Given the description of an element on the screen output the (x, y) to click on. 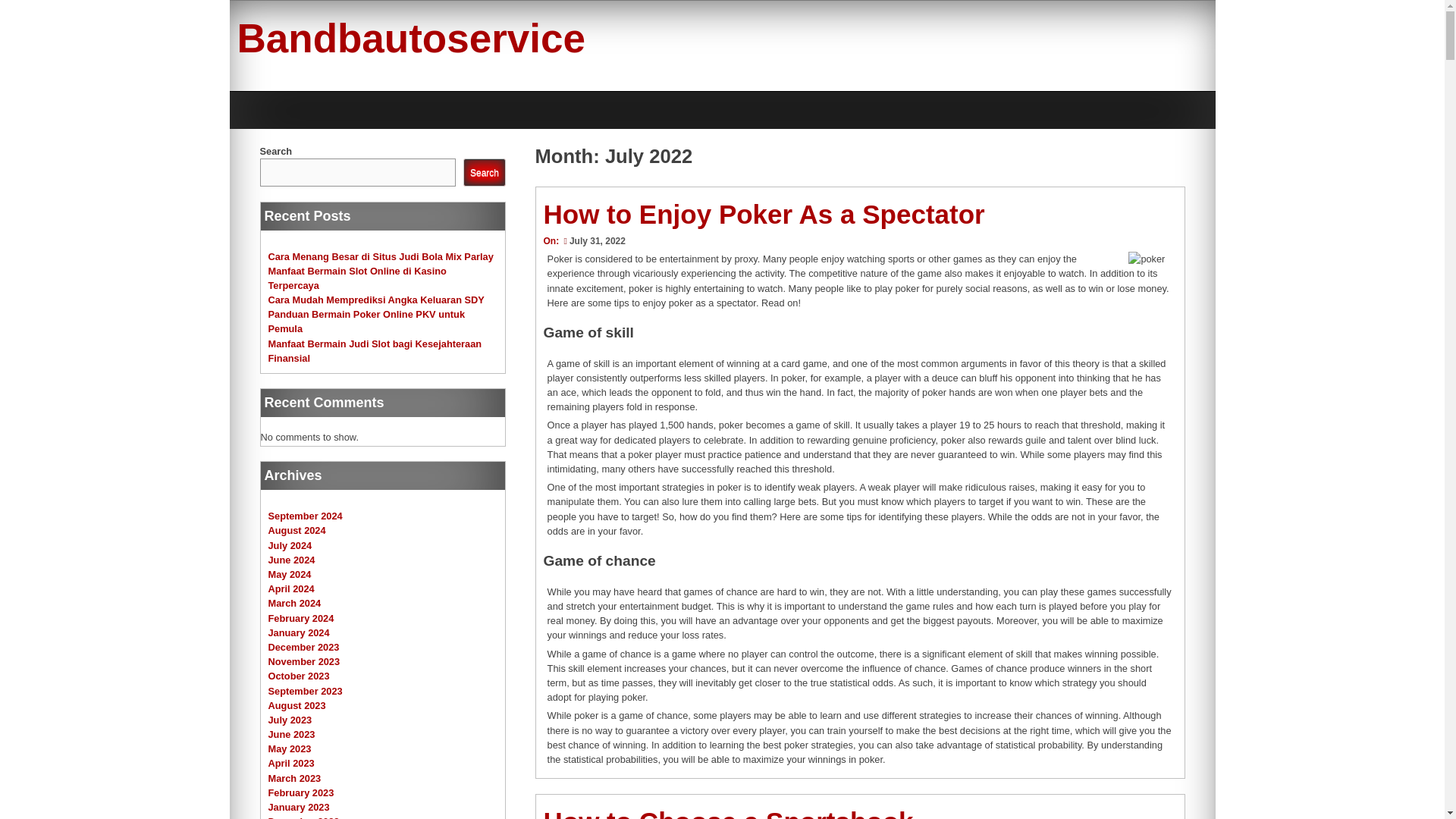
July 31, 2022 (592, 240)
Bandbautoservice (410, 37)
How to Enjoy Poker As a Spectator (763, 214)
How to Choose a Sportsbook (727, 812)
